Given the description of an element on the screen output the (x, y) to click on. 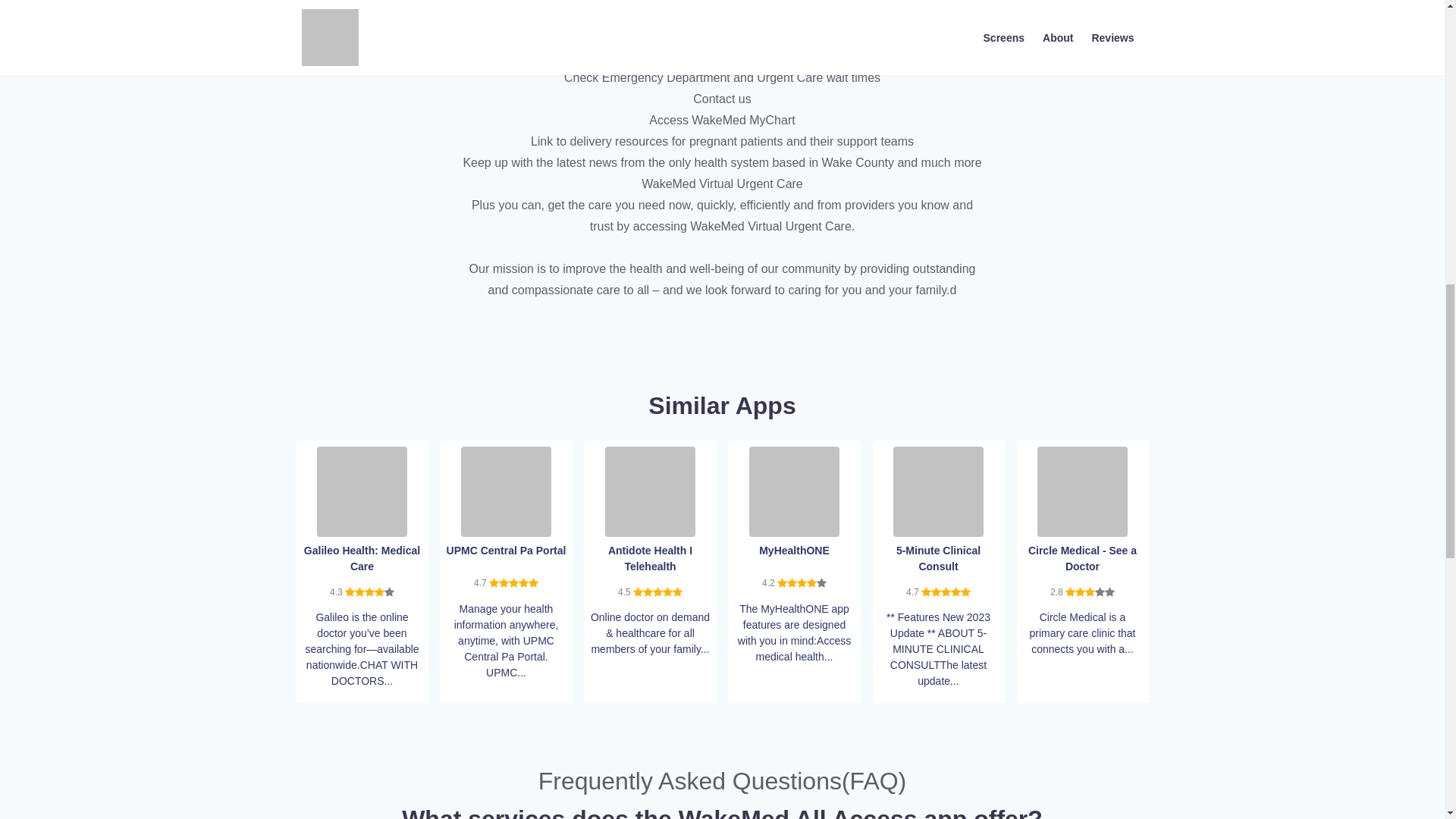
Circle Medical - See a Doctor (1081, 490)
Antidote Health I Telehealth (650, 490)
MyHealthONE (794, 490)
UPMC Central Pa Portal (506, 490)
5-Minute Clinical Consult (938, 490)
Galileo Health: Medical Care (362, 490)
